Given the description of an element on the screen output the (x, y) to click on. 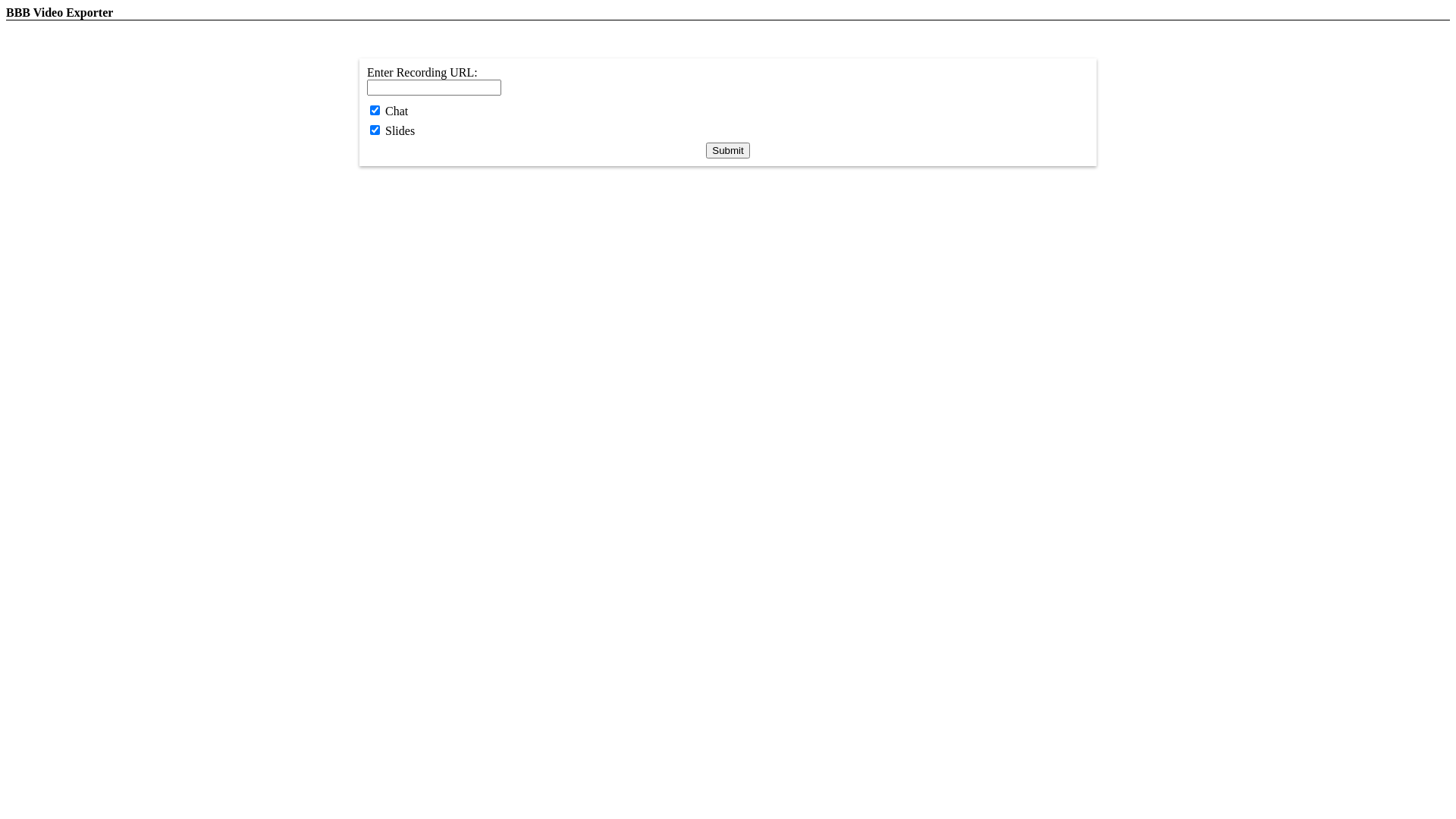
Submit Element type: text (727, 150)
